Given the description of an element on the screen output the (x, y) to click on. 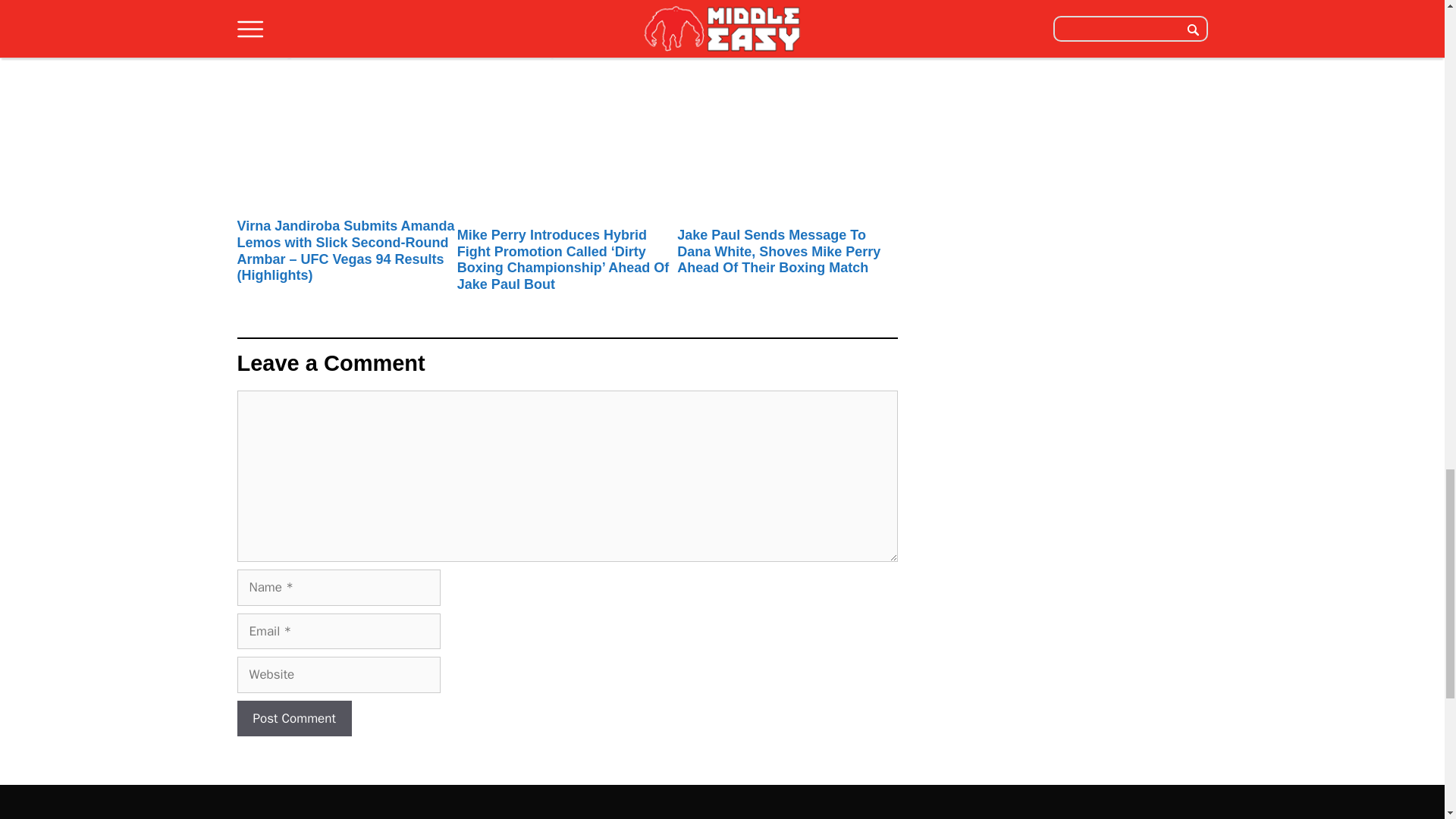
Post Comment (292, 719)
MiddlEeasy: MMA News (314, 816)
